Given the description of an element on the screen output the (x, y) to click on. 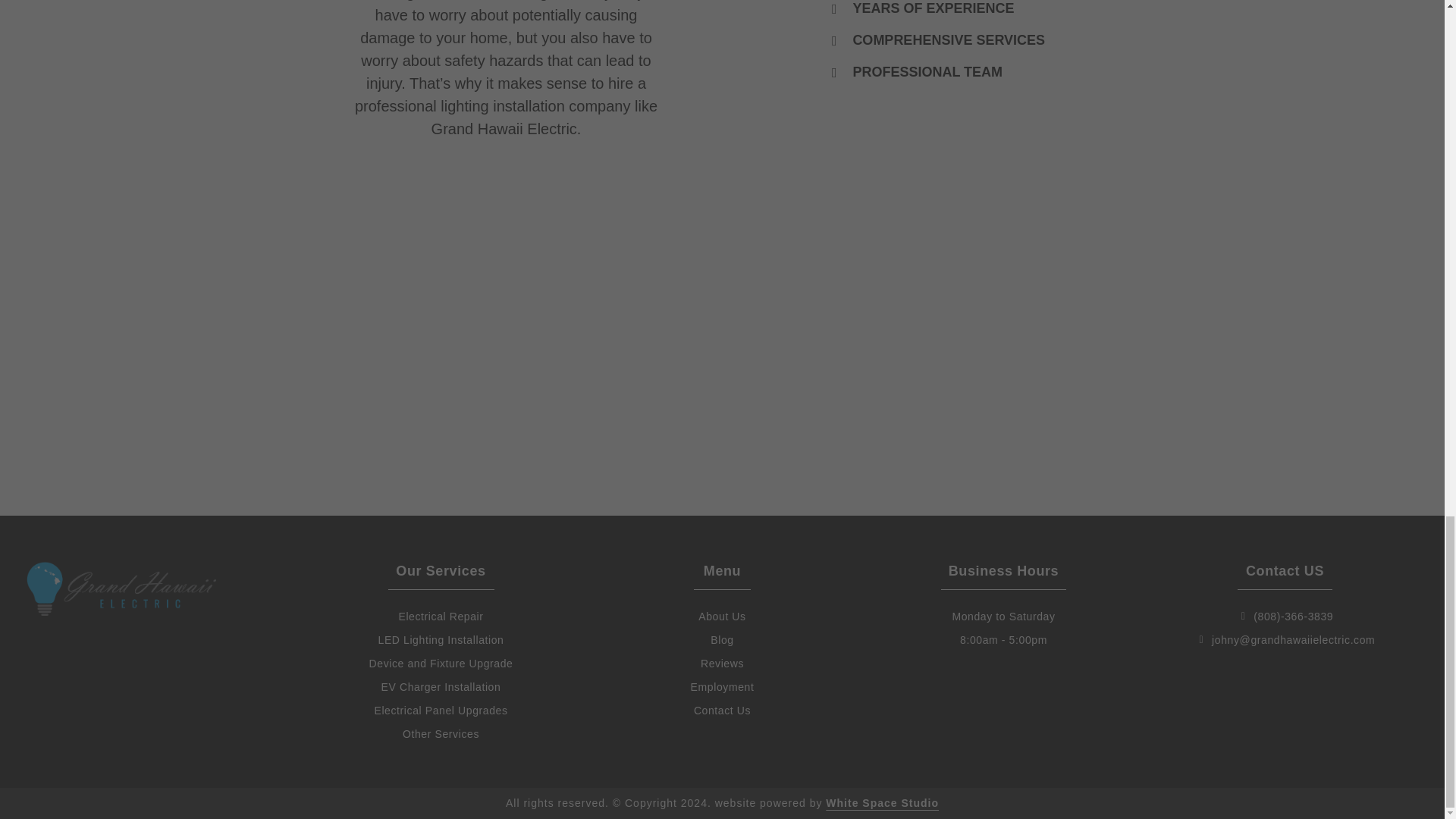
Device and Fixture Upgrade (440, 663)
Electrical Repair (440, 616)
LED Lighting Installation (440, 640)
Electrical Panel Upgrades (440, 710)
EV Charger Installation (440, 687)
